Given the description of an element on the screen output the (x, y) to click on. 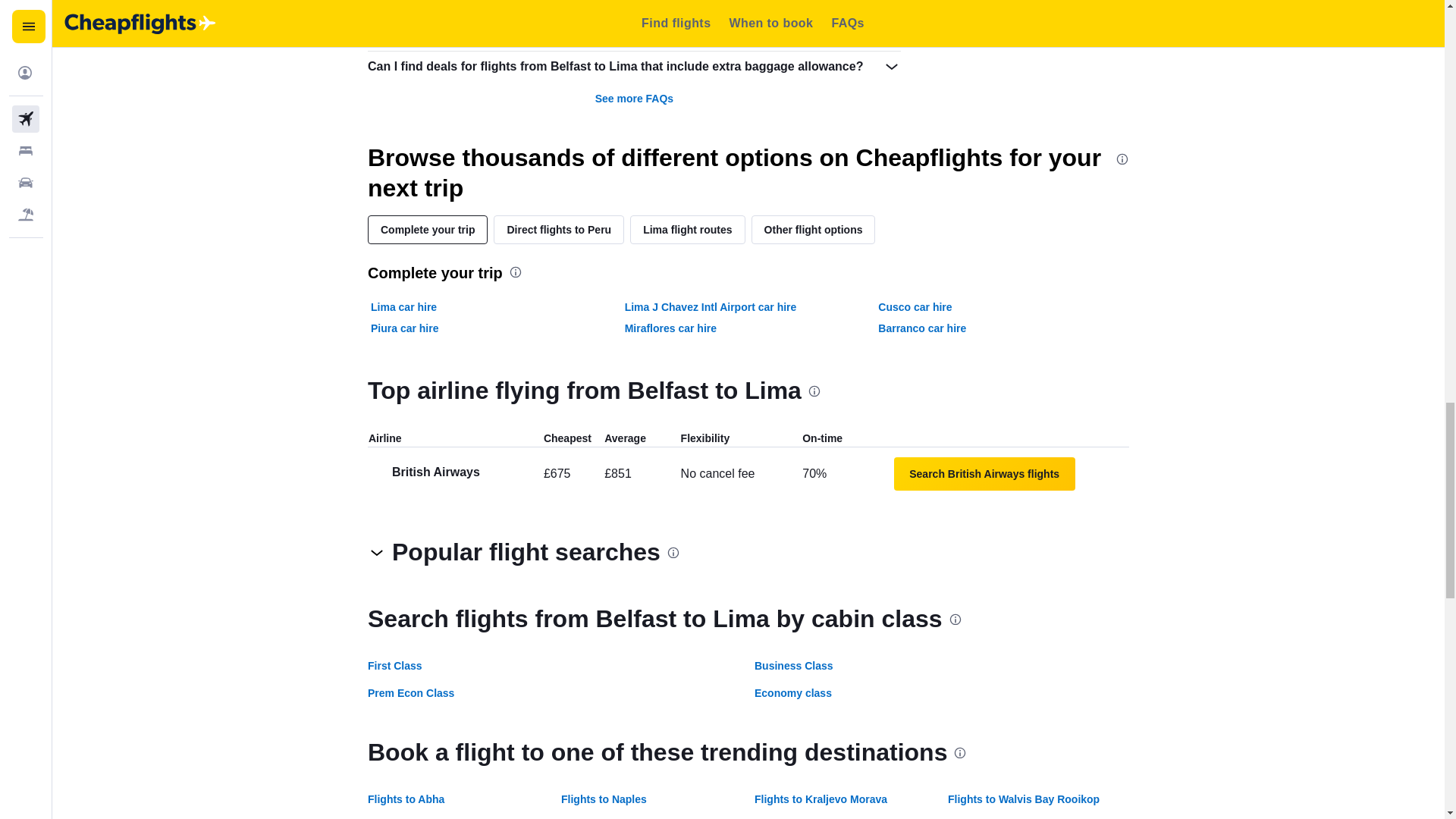
Complete your trip (427, 229)
Piura car hire (405, 328)
Prem Econ Class (411, 693)
Business Class (793, 665)
First Class (395, 665)
Barranco car hire (921, 328)
Flights to Naples (603, 799)
Lima flight routes (687, 229)
Lima J Chavez Intl Airport car hire (710, 306)
Direct flights to Peru (558, 229)
